Given the description of an element on the screen output the (x, y) to click on. 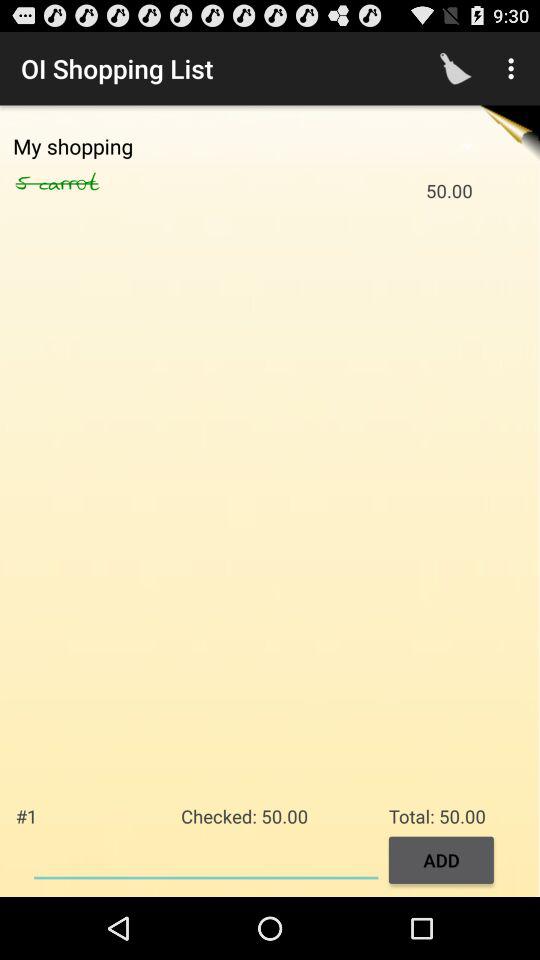
select item to the right of the oi shopping list app (455, 67)
